Given the description of an element on the screen output the (x, y) to click on. 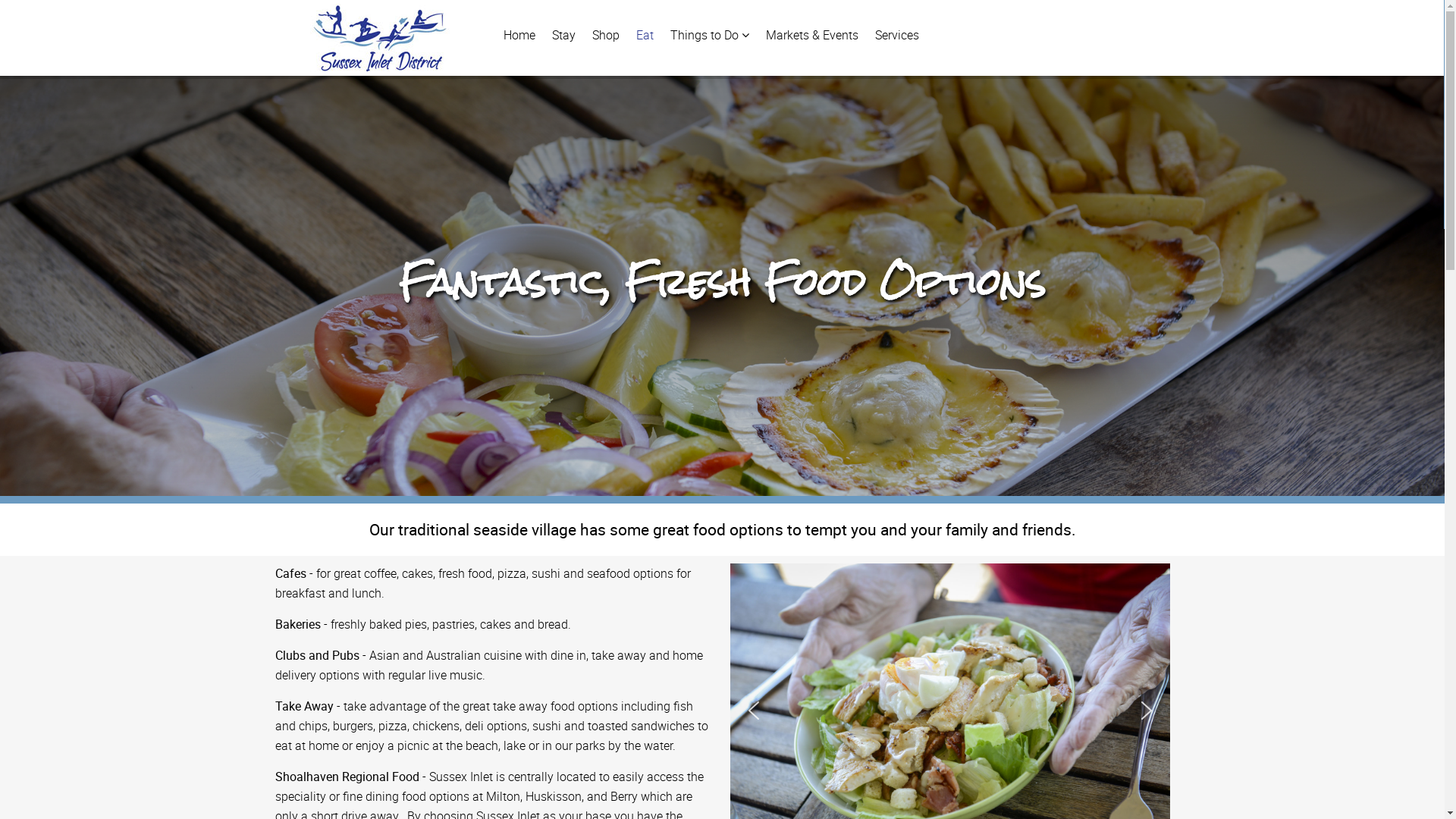
Home Element type: text (518, 34)
Things to Do Element type: text (709, 34)
Shop Element type: text (604, 34)
Services Element type: text (896, 34)
Markets & Events Element type: text (812, 34)
Eat Element type: text (643, 34)
Stay Element type: text (563, 34)
